Given the description of an element on the screen output the (x, y) to click on. 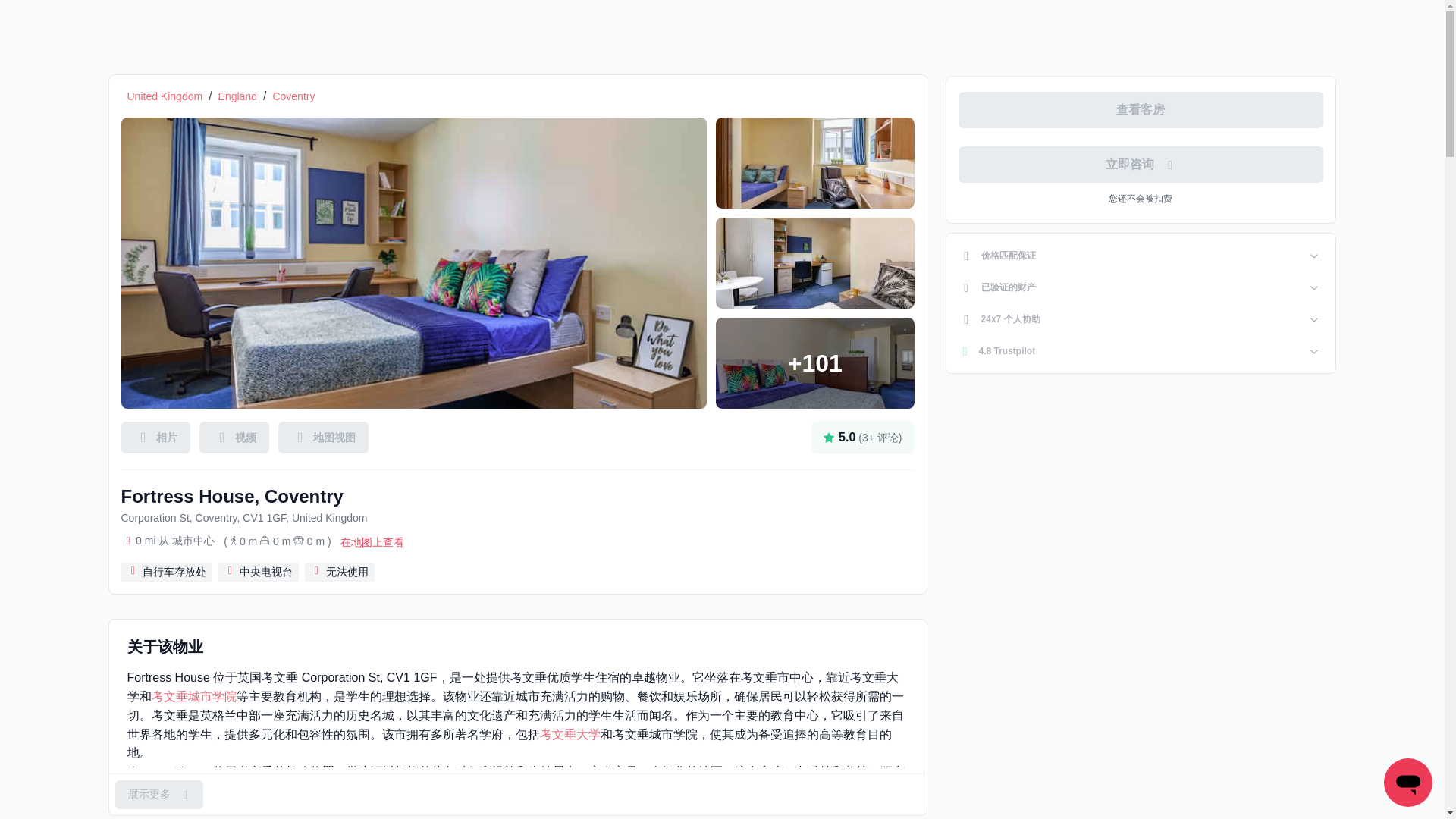
4.8 Trustpilot (1141, 350)
Coventry (293, 95)
United Kingdom (164, 95)
England (237, 95)
